Given the description of an element on the screen output the (x, y) to click on. 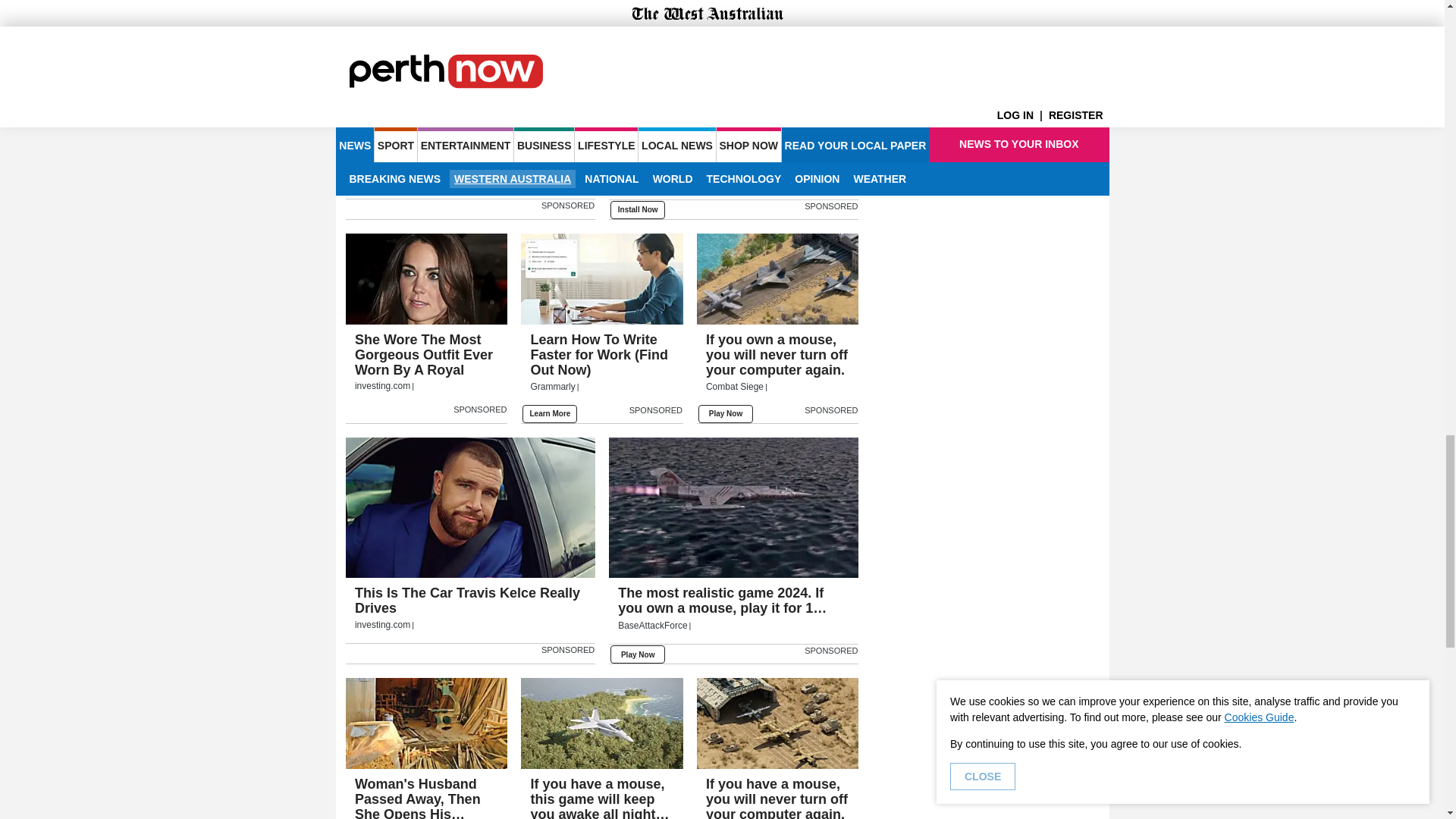
She Wore The Most Gorgeous Outfit Ever Worn By A Royal (427, 363)
She Wore The Most Gorgeous Outfit Ever Worn By A Royal (427, 278)
